Given the description of an element on the screen output the (x, y) to click on. 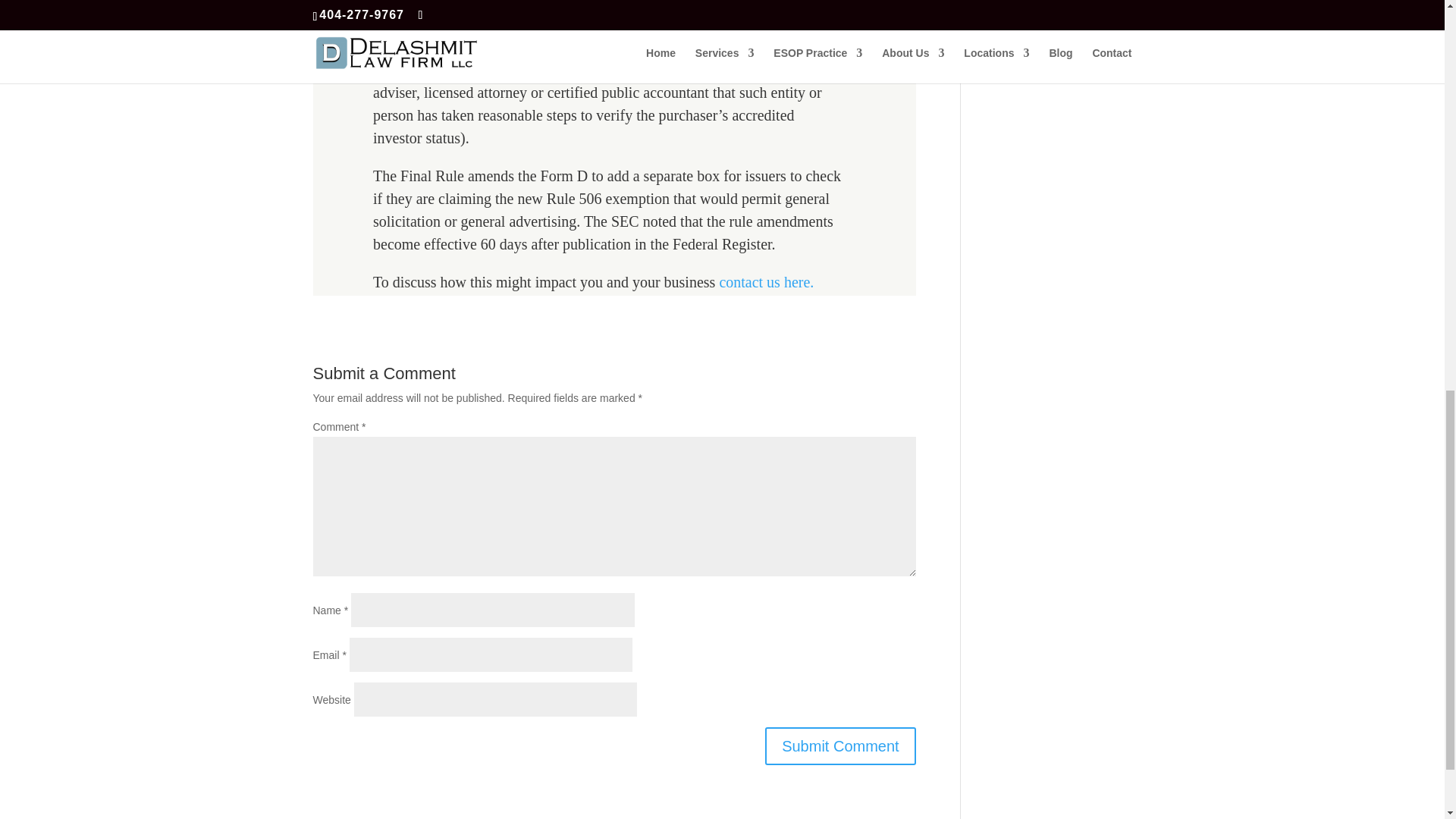
Submit Comment (840, 745)
Submit Comment (840, 745)
contact us here. (766, 281)
